Given the description of an element on the screen output the (x, y) to click on. 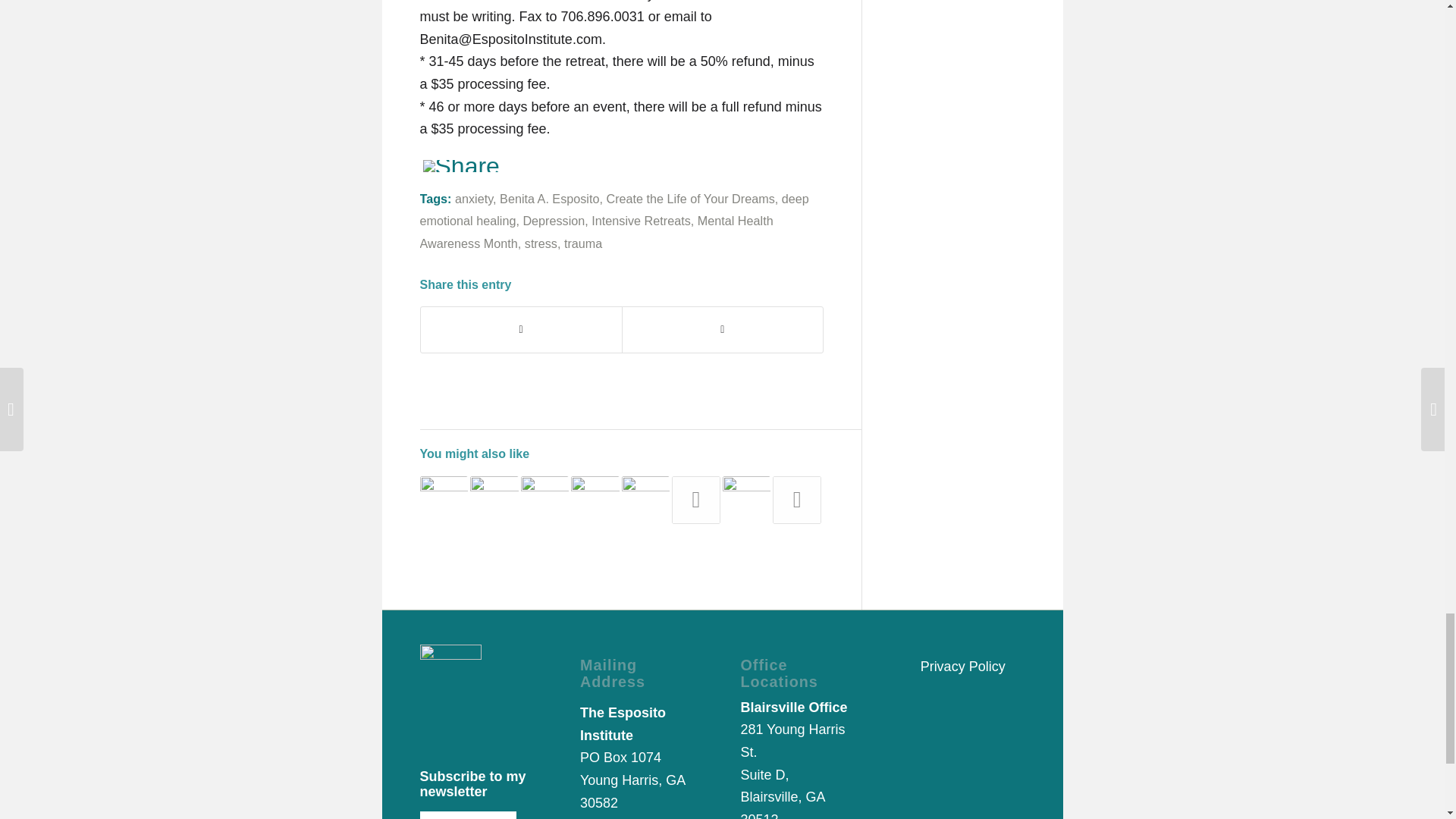
Why Breathwork Creates Rapid Changes (545, 499)
